Given the description of an element on the screen output the (x, y) to click on. 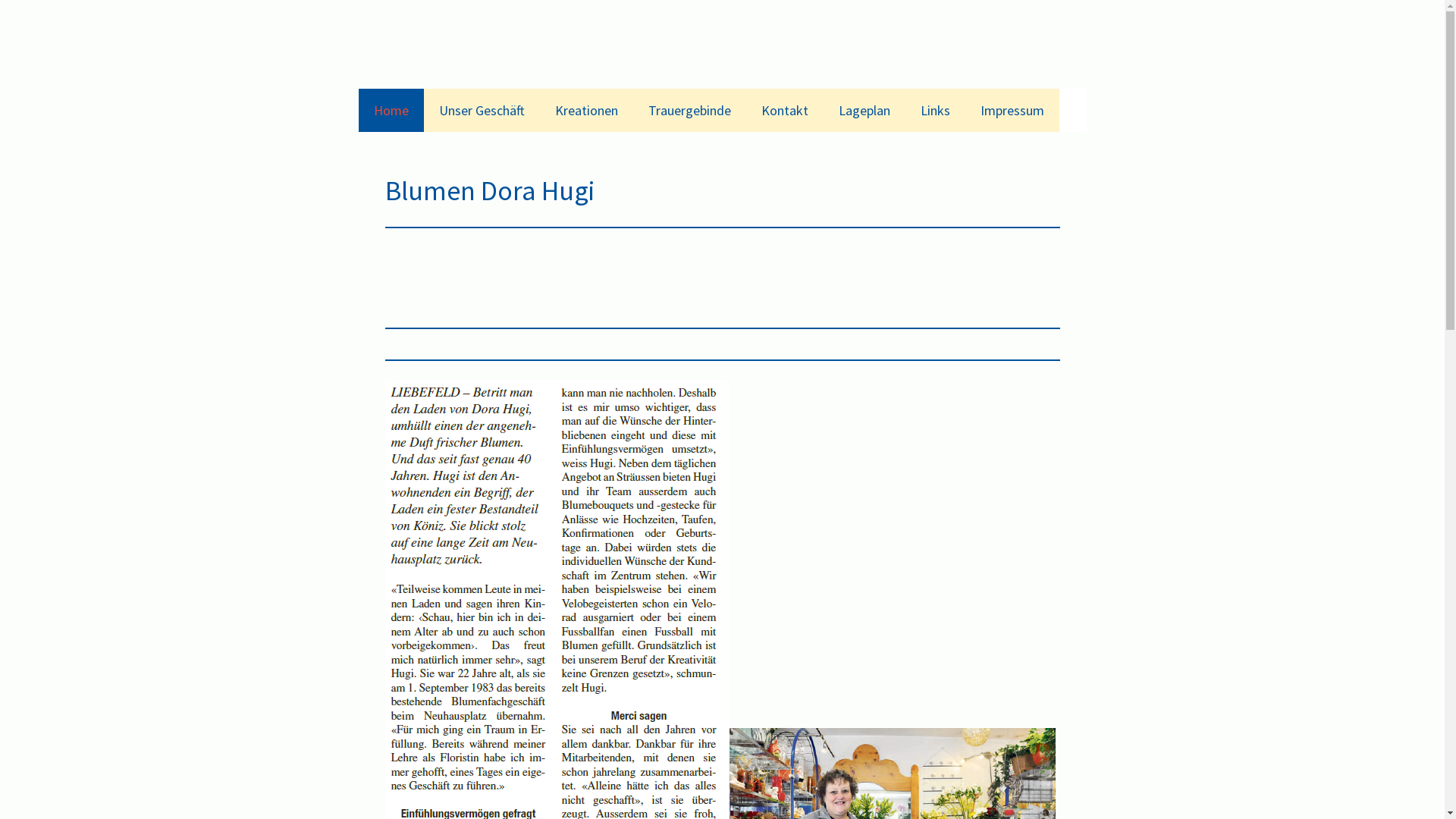
Kreationen Element type: text (586, 109)
Kontakt Element type: text (784, 109)
Trauergebinde Element type: text (688, 109)
Links Element type: text (935, 109)
Home Element type: text (390, 109)
Lageplan Element type: text (864, 109)
Impressum Element type: text (1011, 109)
